Given the description of an element on the screen output the (x, y) to click on. 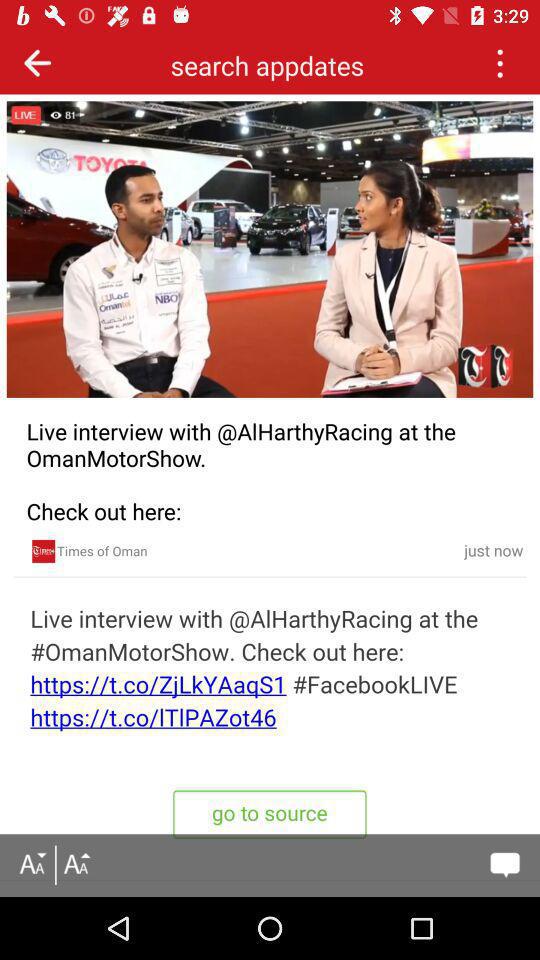
select the image which is to the immediate left of times of oman (43, 550)
select the increase font size (76, 865)
click on the 3 vertical dots icon (499, 62)
select the button which is at bottom right corner of page (505, 865)
